Given the description of an element on the screen output the (x, y) to click on. 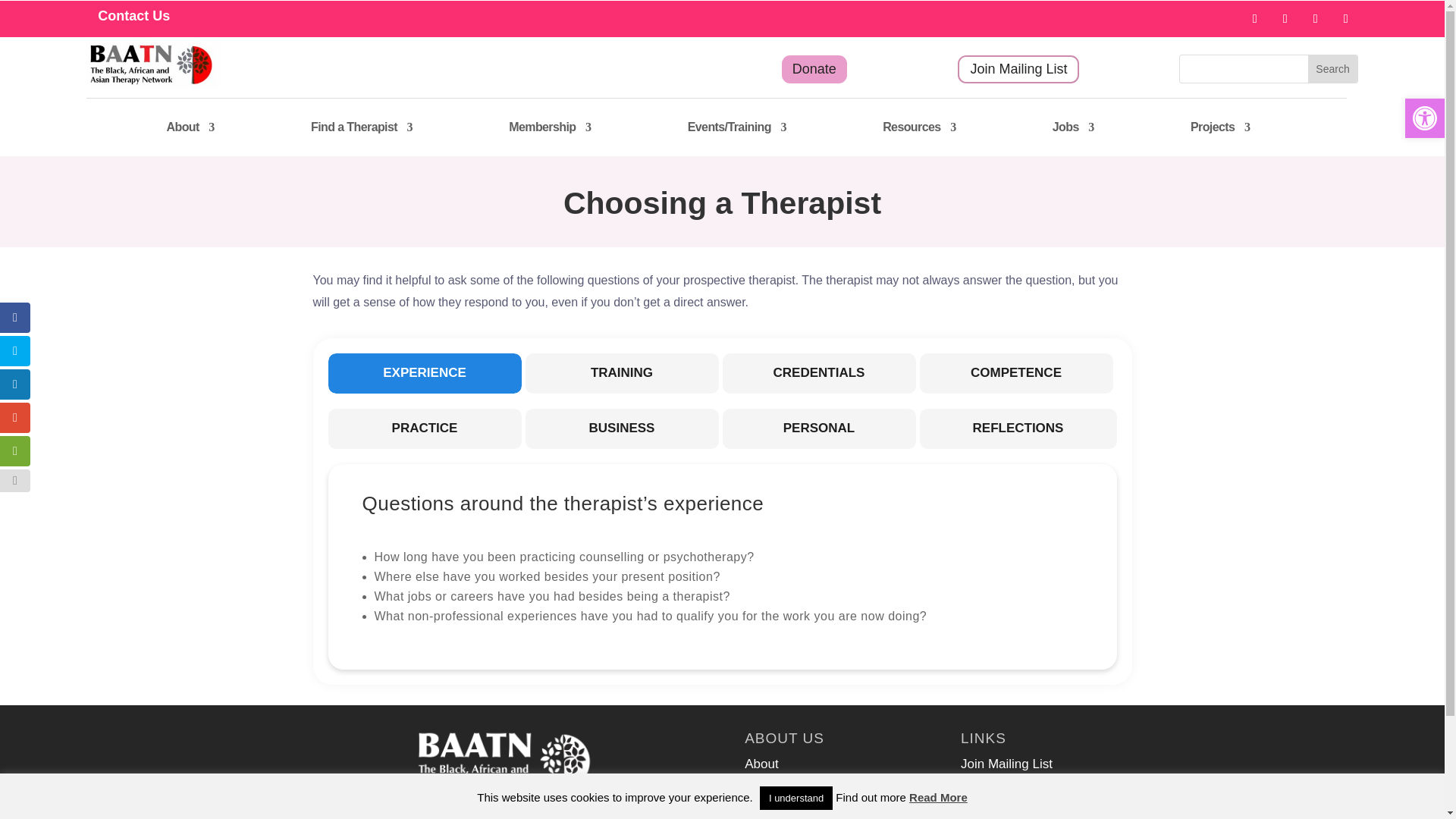
Follow on Instagram (1345, 18)
Search (1331, 68)
Follow on Facebook (1254, 18)
Accessibility Tools (1424, 118)
BAATNLogoOptimaTheOne-Transparent (506, 760)
Search (1331, 68)
Find a Therapist (361, 127)
Search (1331, 68)
Contact Us (133, 15)
Membership (549, 127)
Follow on LinkedIn (1315, 18)
Follow on X (1284, 18)
